Given the description of an element on the screen output the (x, y) to click on. 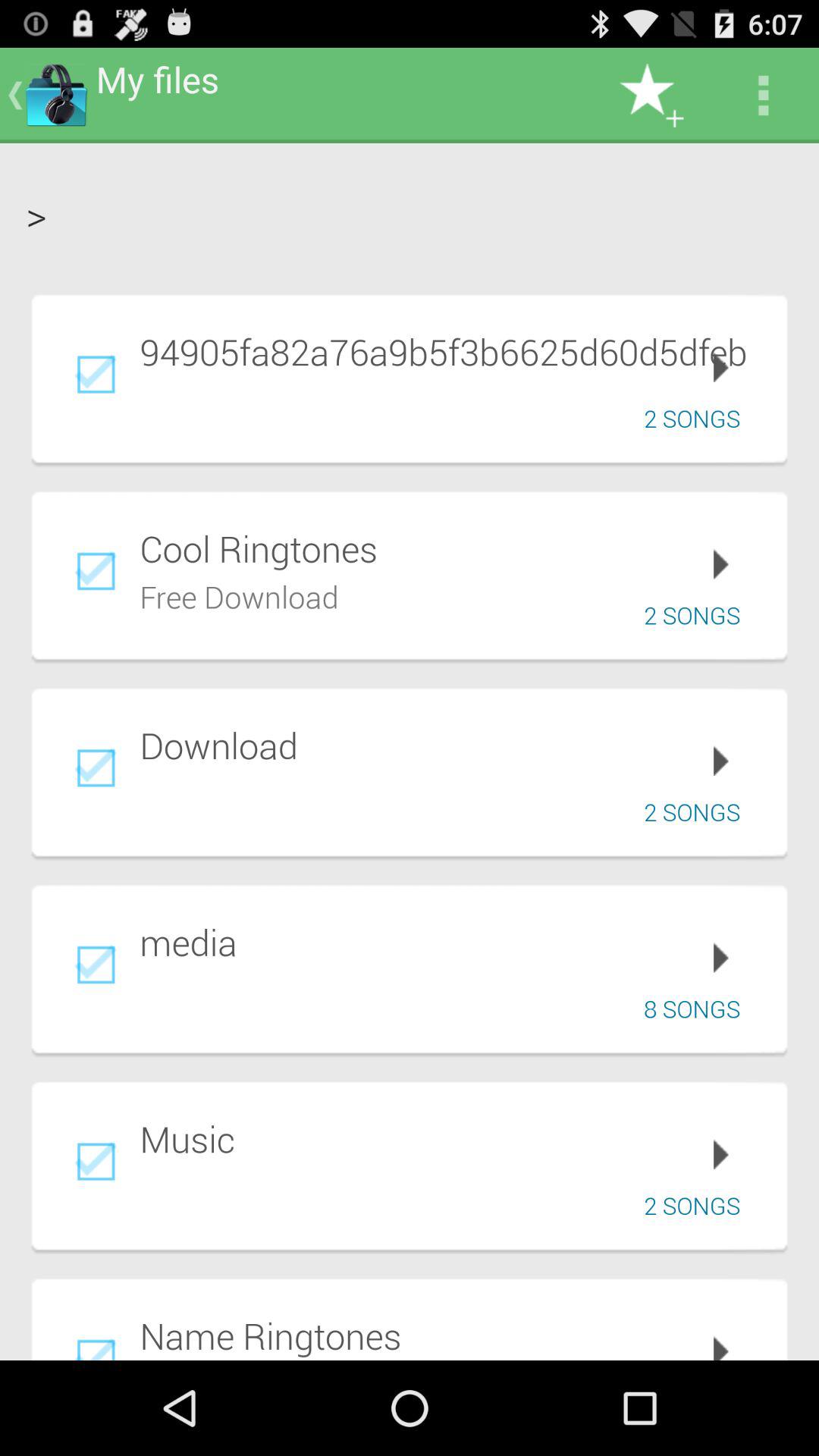
choose item below cool ringtones icon (238, 594)
